Given the description of an element on the screen output the (x, y) to click on. 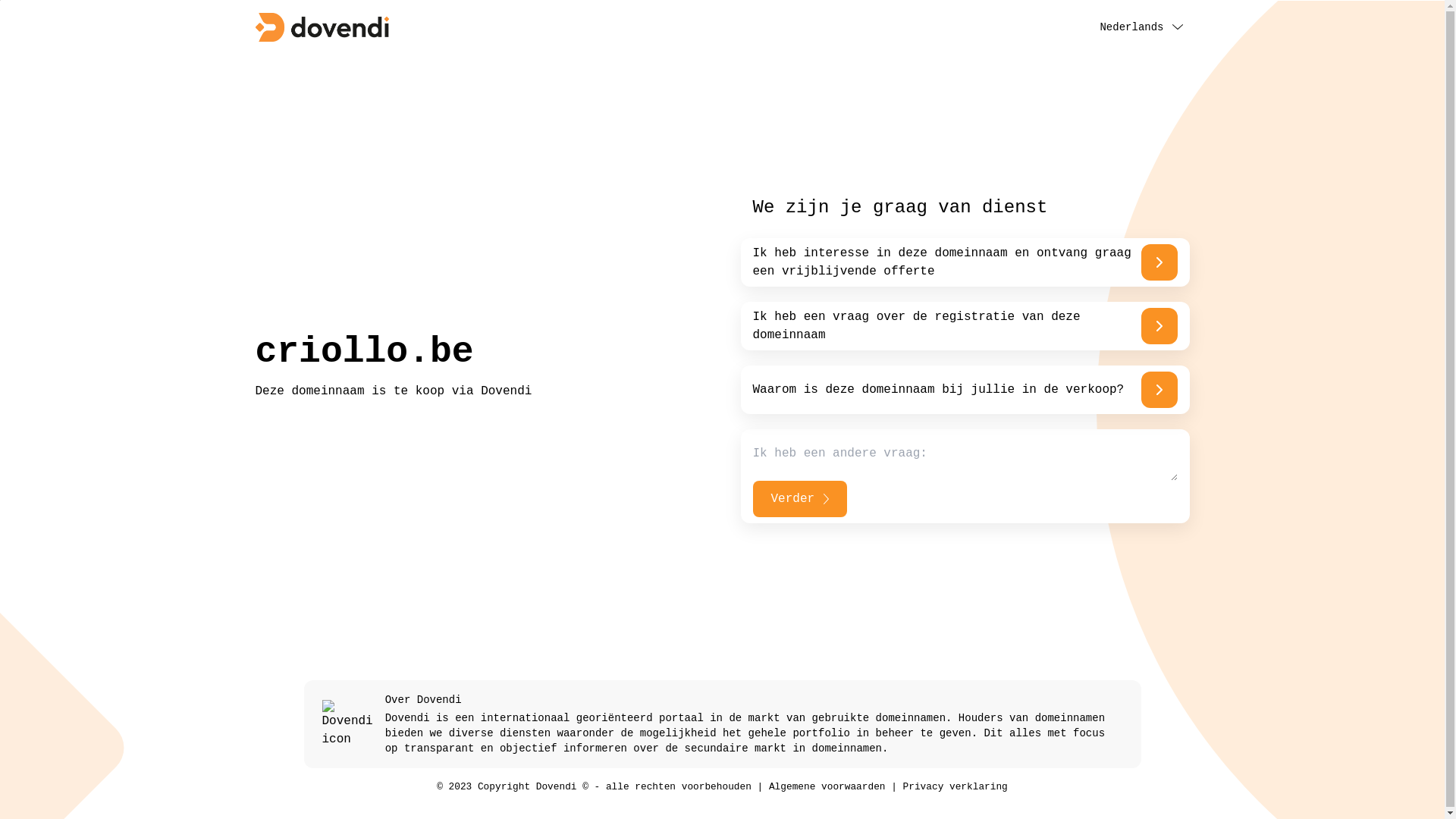
Algemene voorwaarden Element type: text (826, 786)
Verder Element type: text (799, 498)
Privacy verklaring Element type: text (955, 786)
